Given the description of an element on the screen output the (x, y) to click on. 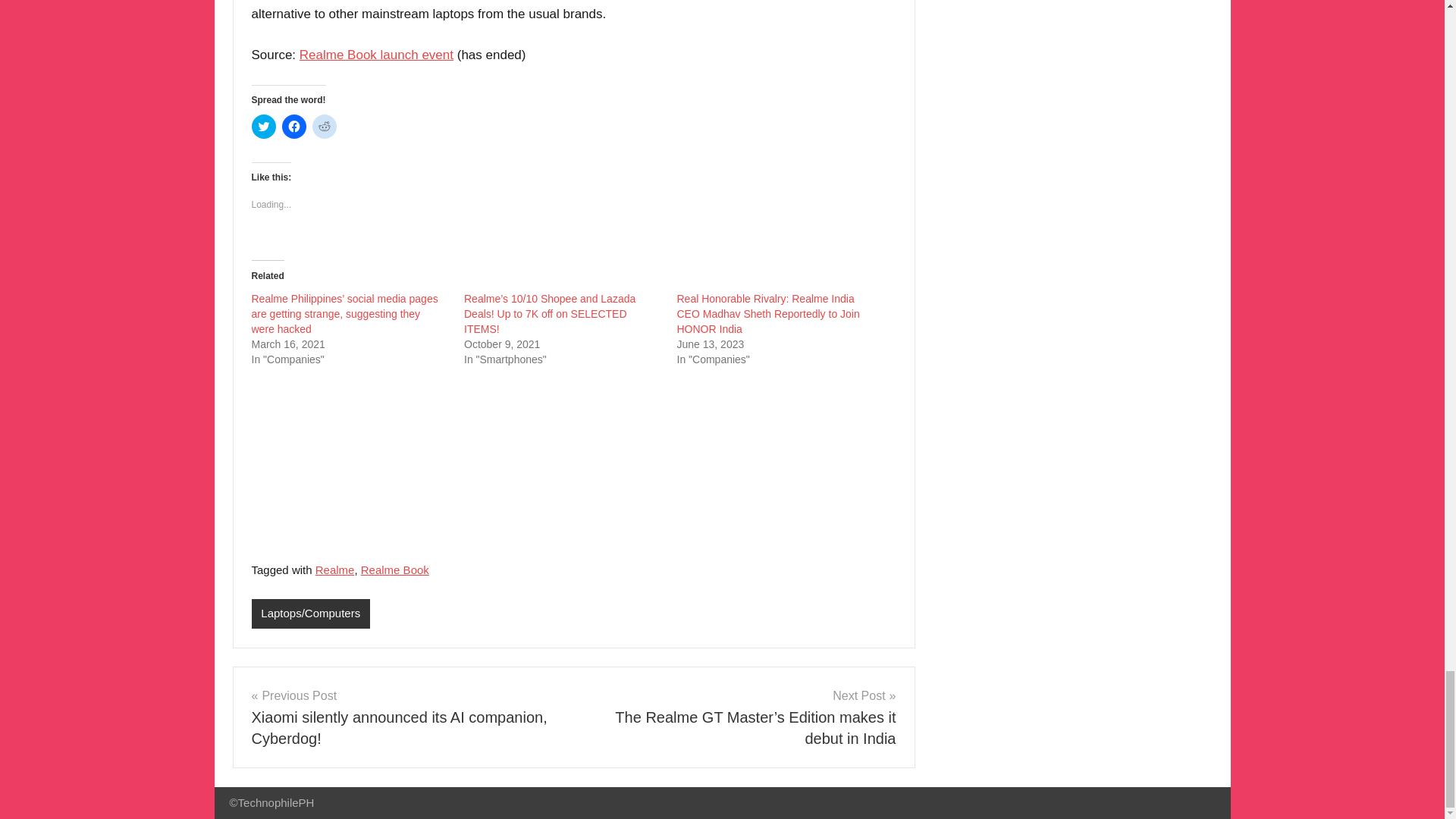
Click to share on Reddit (324, 126)
Realme (335, 569)
Realme Book launch event (375, 54)
Click to share on Facebook (293, 126)
Click to share on Twitter (263, 126)
